Given the description of an element on the screen output the (x, y) to click on. 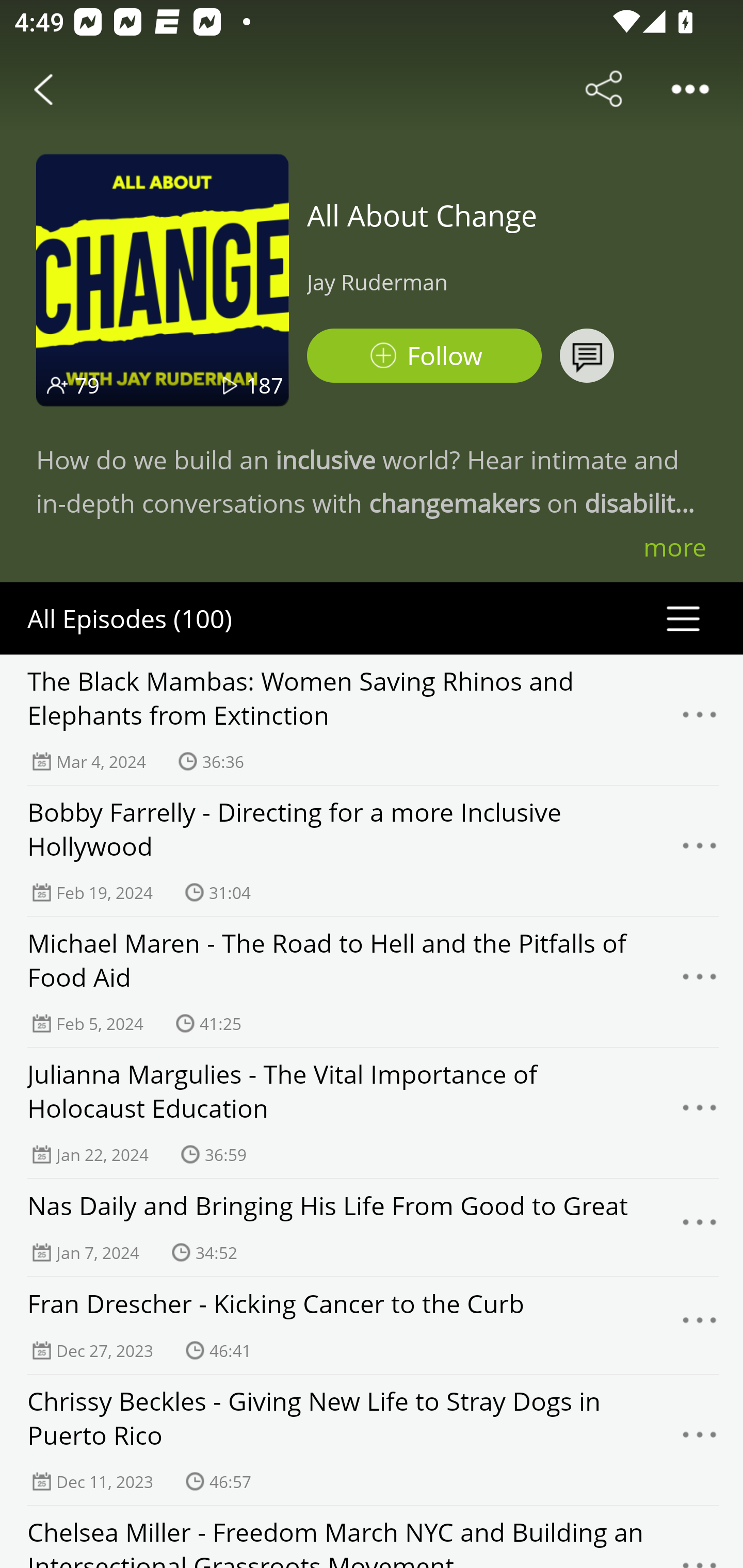
Back (43, 88)
Podbean Follow (423, 355)
79 (87, 384)
more (674, 546)
Menu (699, 720)
Menu (699, 850)
Menu (699, 982)
Menu (699, 1113)
Menu (699, 1227)
Menu (699, 1325)
Menu (699, 1440)
